Given the description of an element on the screen output the (x, y) to click on. 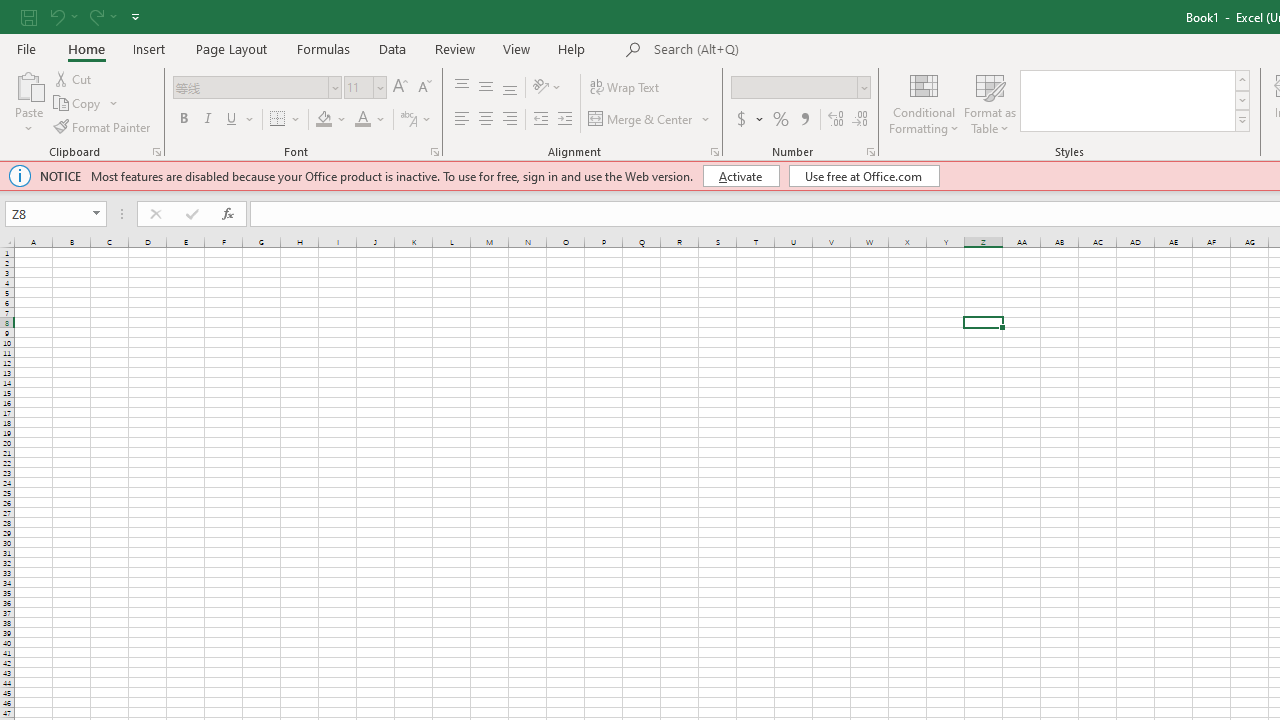
More Options (760, 119)
Row up (1242, 79)
Accounting Number Format (749, 119)
Decrease Indent (540, 119)
Font Color (362, 119)
Insert (149, 48)
Bottom Border (278, 119)
Show Phonetic Field (408, 119)
Bottom Align (509, 87)
Percent Style (781, 119)
Help (572, 48)
Open (96, 213)
Increase Decimal (836, 119)
Copy (78, 103)
Underline (239, 119)
